Given the description of an element on the screen output the (x, y) to click on. 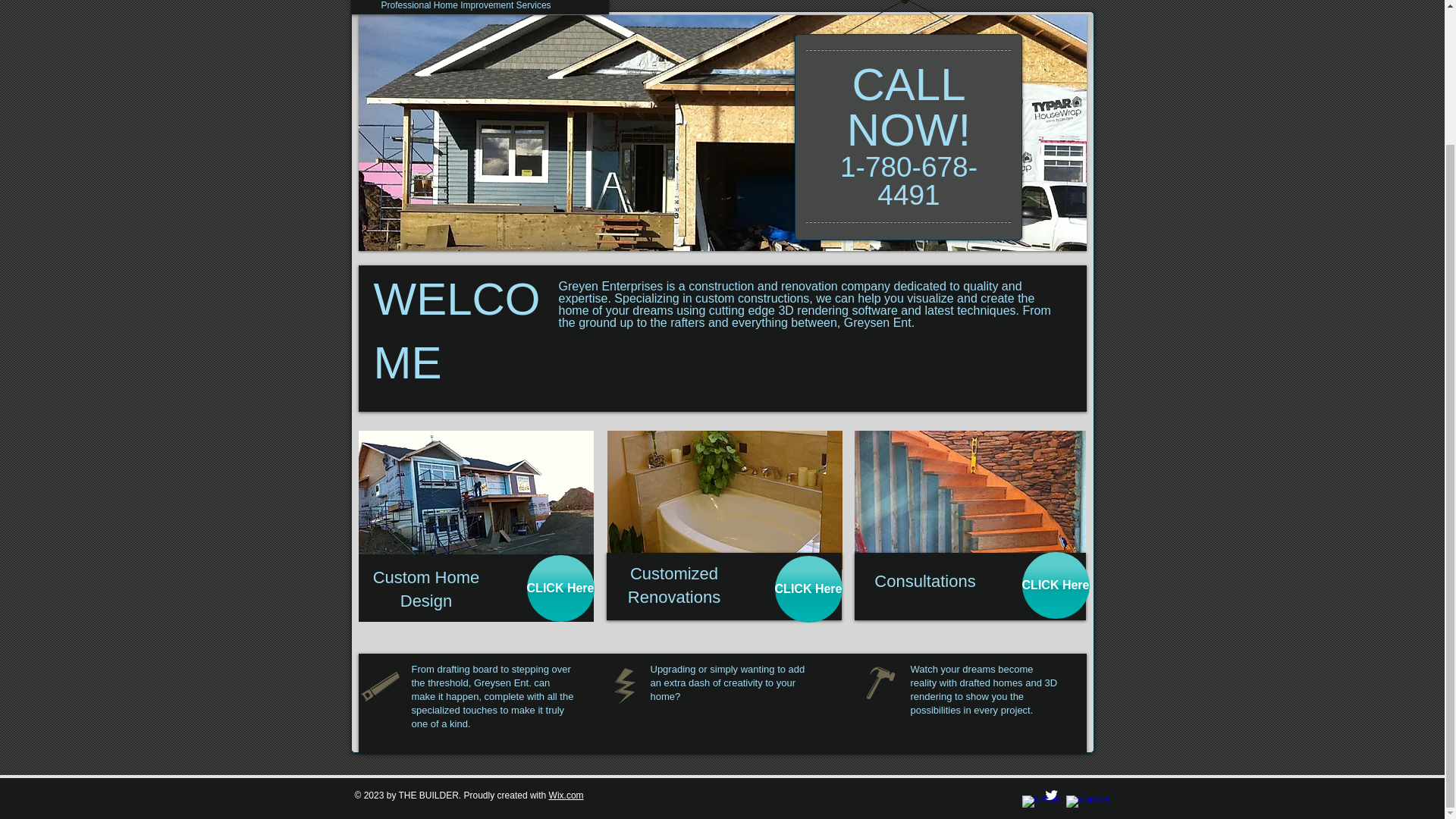
IMGP5752.JPG (724, 499)
CLICK Here (1055, 585)
CLICK Here (808, 589)
Wix.com (565, 795)
CLICK Here (559, 588)
